Given the description of an element on the screen output the (x, y) to click on. 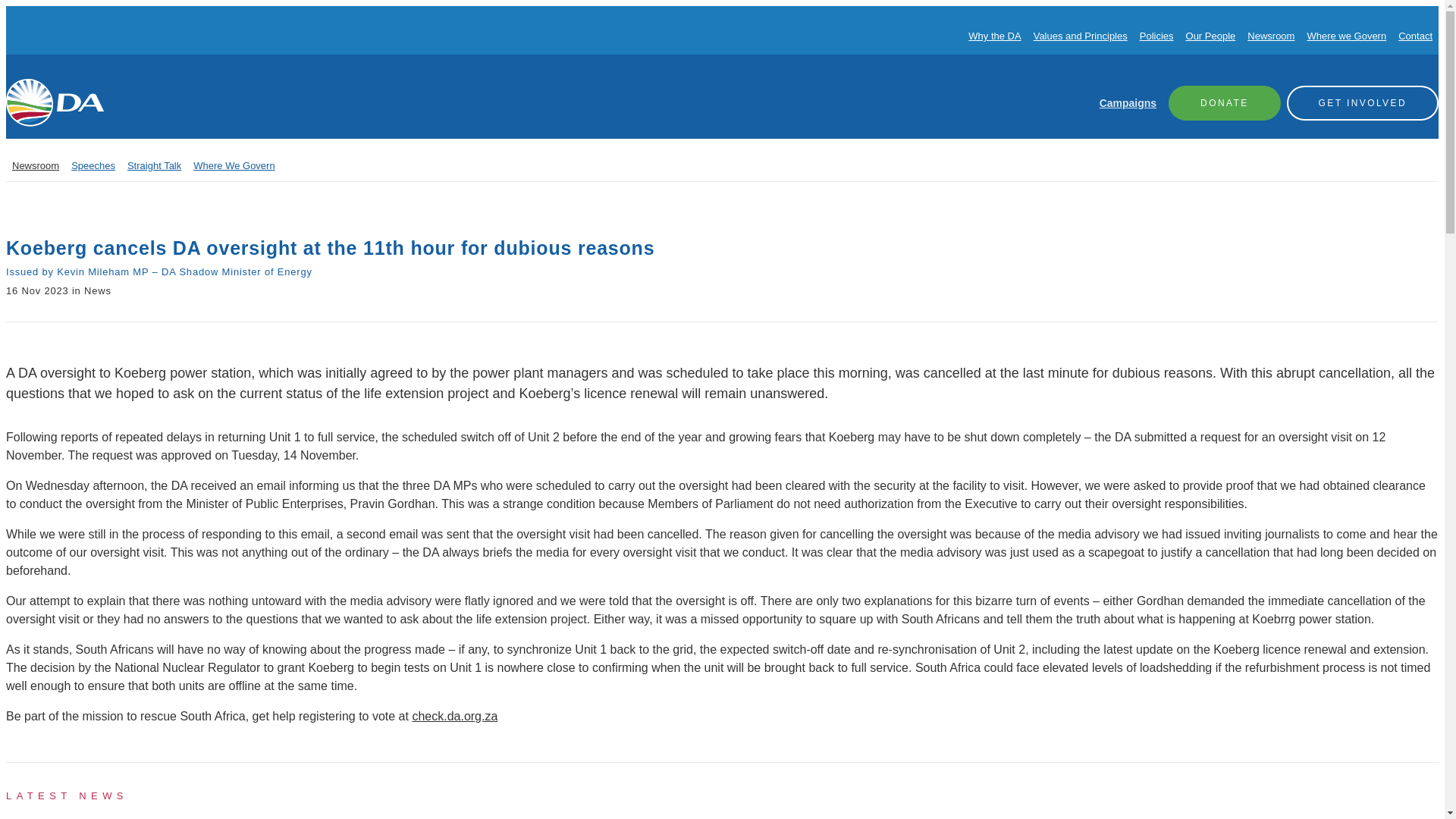
Campaigns (1127, 102)
Straight Talk (154, 165)
Newsroom (1270, 35)
Speeches (93, 165)
Values and Principles (1079, 35)
Where we Govern (1346, 35)
DONATE (1225, 102)
Newsroom (35, 165)
Where We Govern (234, 165)
DONATE (1225, 101)
check.da.org.za (454, 716)
Our People (1211, 35)
Democratic Alliance Logo (54, 102)
Policies (1156, 35)
Why the DA (994, 35)
